Given the description of an element on the screen output the (x, y) to click on. 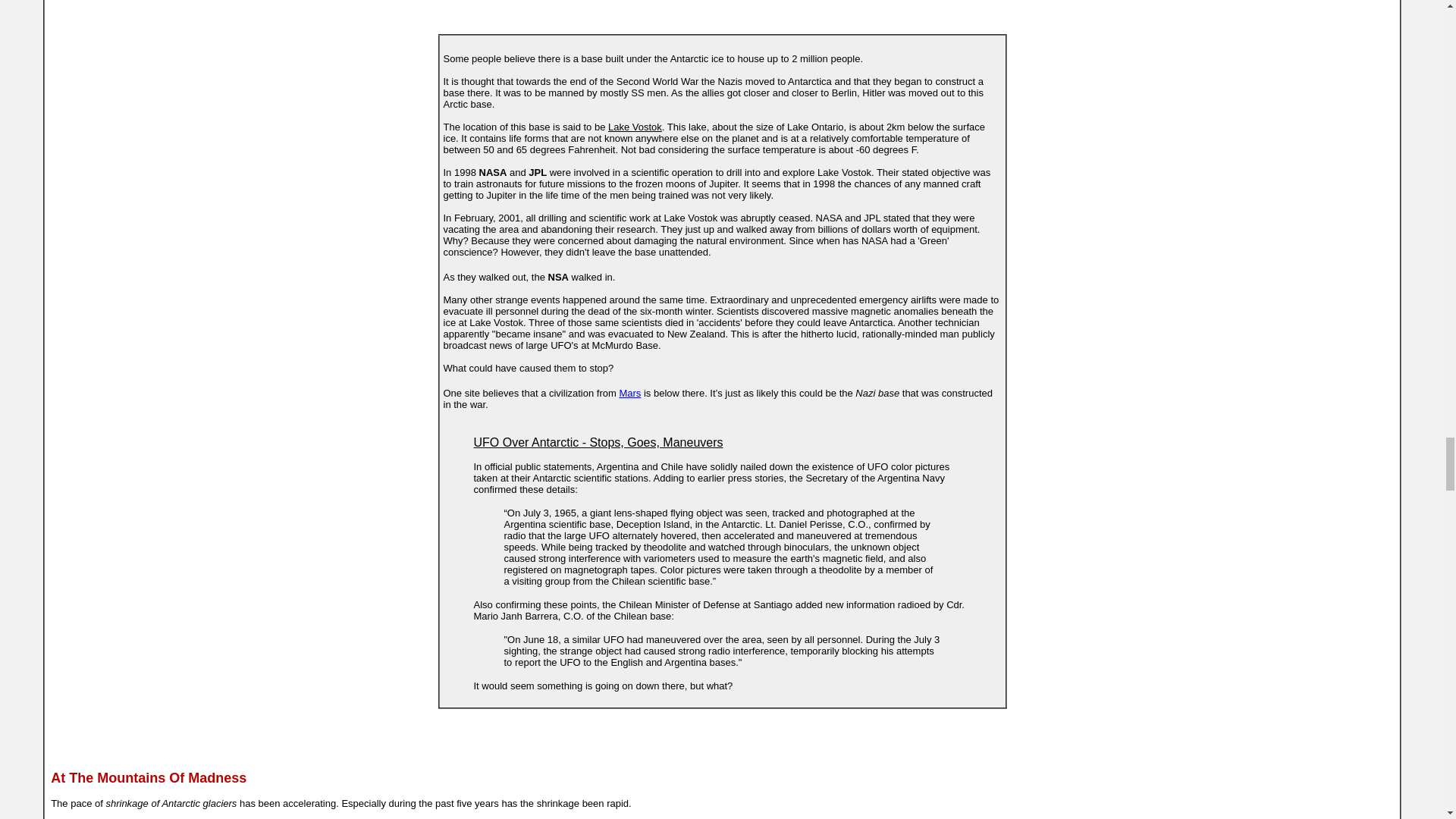
Mars (629, 392)
